Given the description of an element on the screen output the (x, y) to click on. 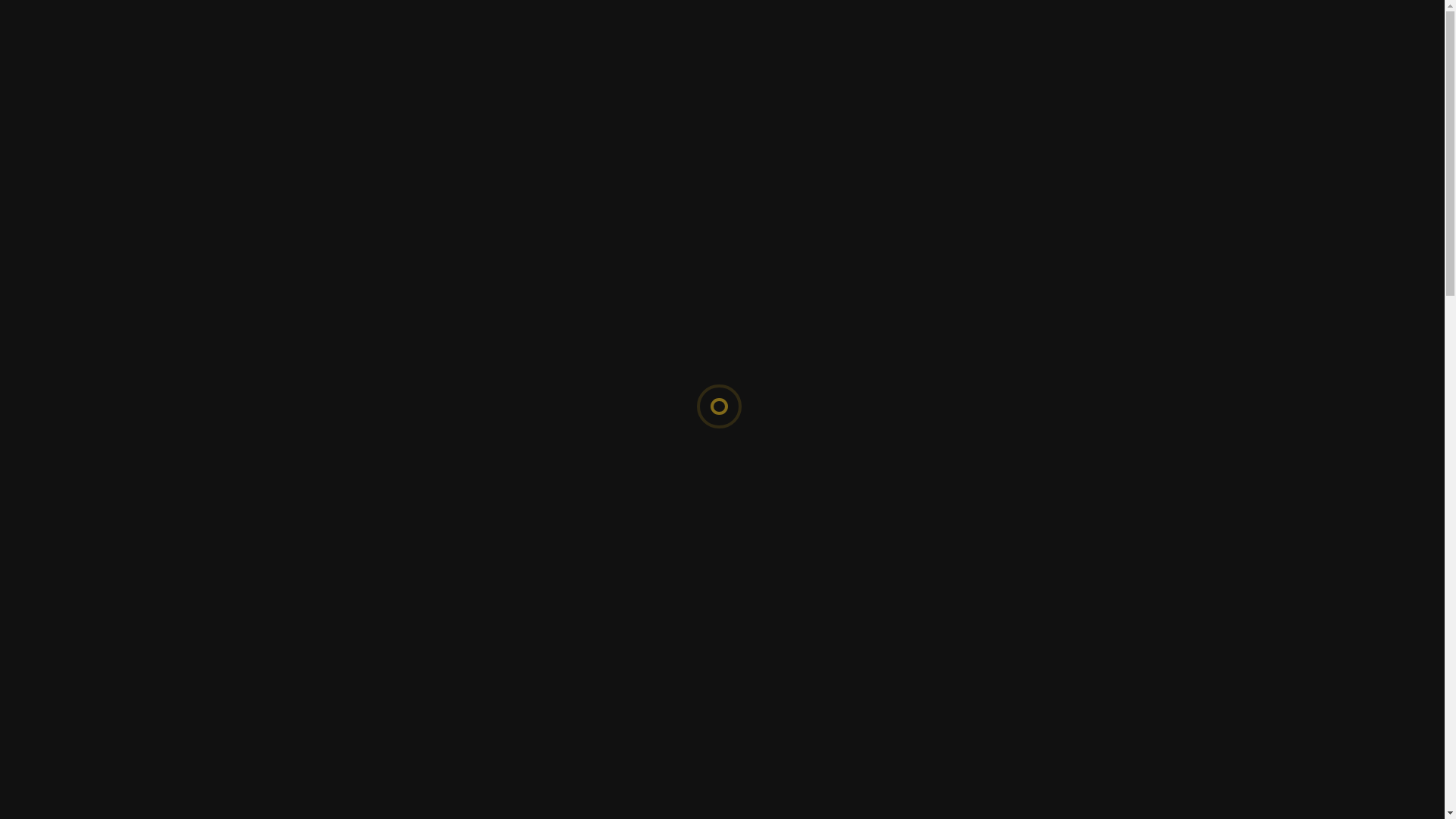
james@esteemedlimousine.com.au Element type: text (835, 734)
home page Element type: text (780, 581)
About Element type: text (674, 73)
Gallery Element type: text (821, 73)
Home Element type: text (623, 73)
Locations Element type: text (891, 73)
Contact Element type: text (964, 73)
Home Element type: text (681, 276)
What We Do Element type: text (746, 73)
BOOK A TRANSFER Element type: text (1094, 72)
0488 008 134 Element type: text (316, 17)
